Given the description of an element on the screen output the (x, y) to click on. 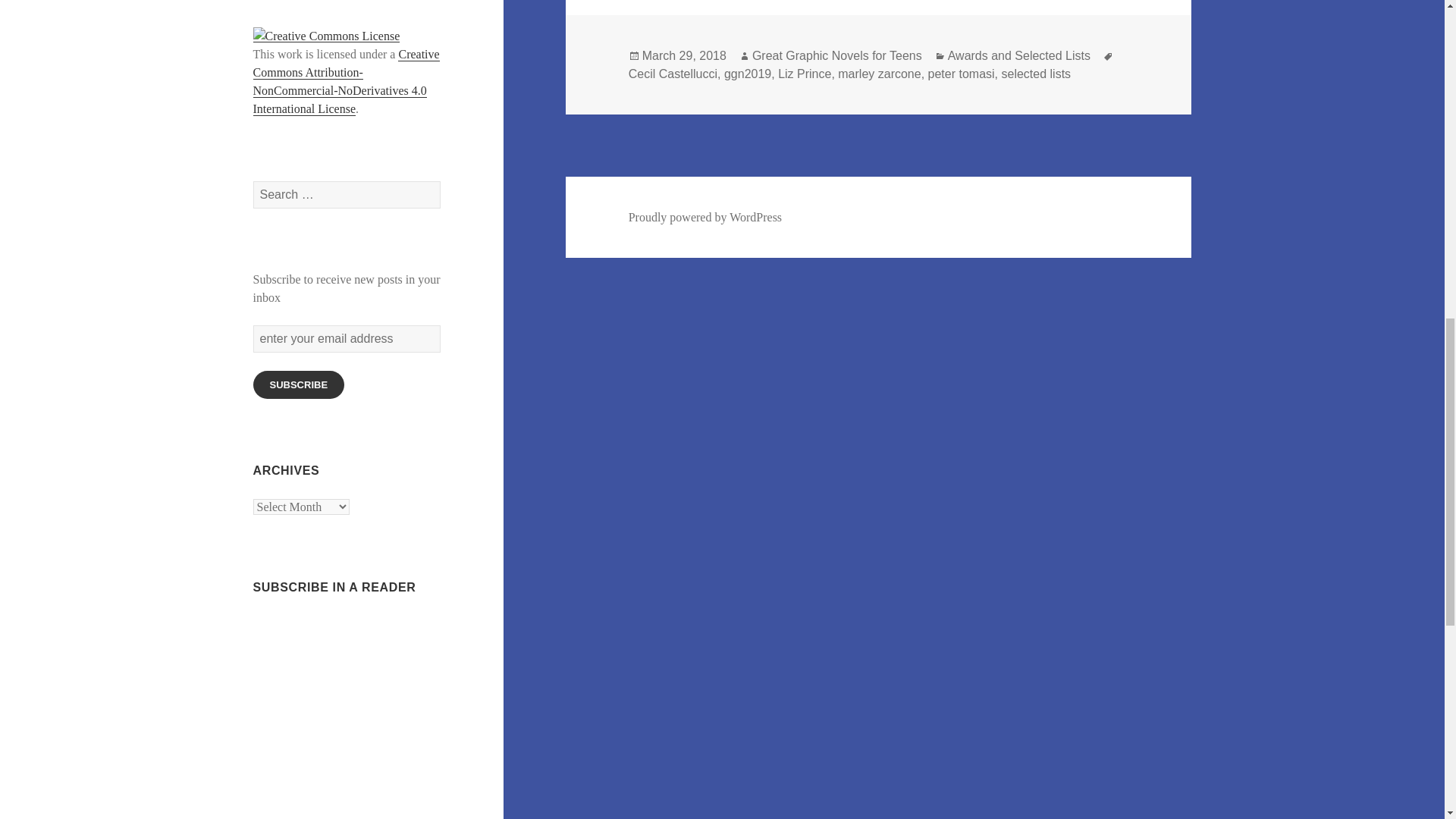
Cecil Castellucci (672, 74)
Great Graphic Novels for Teens (836, 56)
ggn2019 (747, 74)
SUBSCRIBE (299, 384)
March 29, 2018 (684, 56)
Awards and Selected Lists (1018, 56)
